Given the description of an element on the screen output the (x, y) to click on. 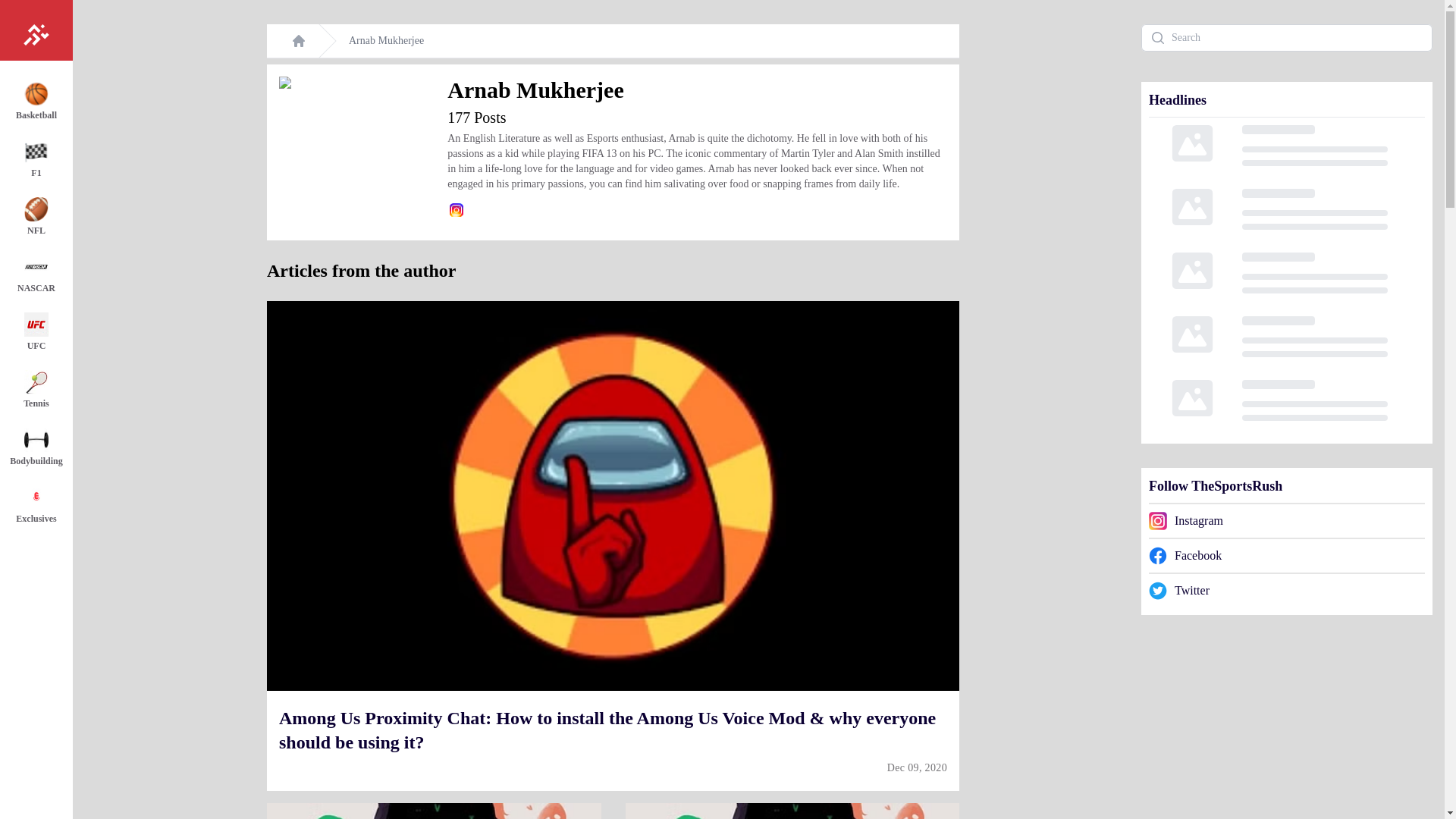
UFC (39, 333)
F1 (39, 160)
F1 (39, 160)
Arnab Mukherjee (386, 40)
Instagram (455, 209)
Exclusives (39, 506)
Home (36, 30)
Dec 09, 2020 (916, 767)
Basketball (39, 103)
Bodybuilding (39, 448)
Basketball (39, 103)
Exclusives (39, 506)
NFL (39, 217)
NFL (39, 217)
